Given the description of an element on the screen output the (x, y) to click on. 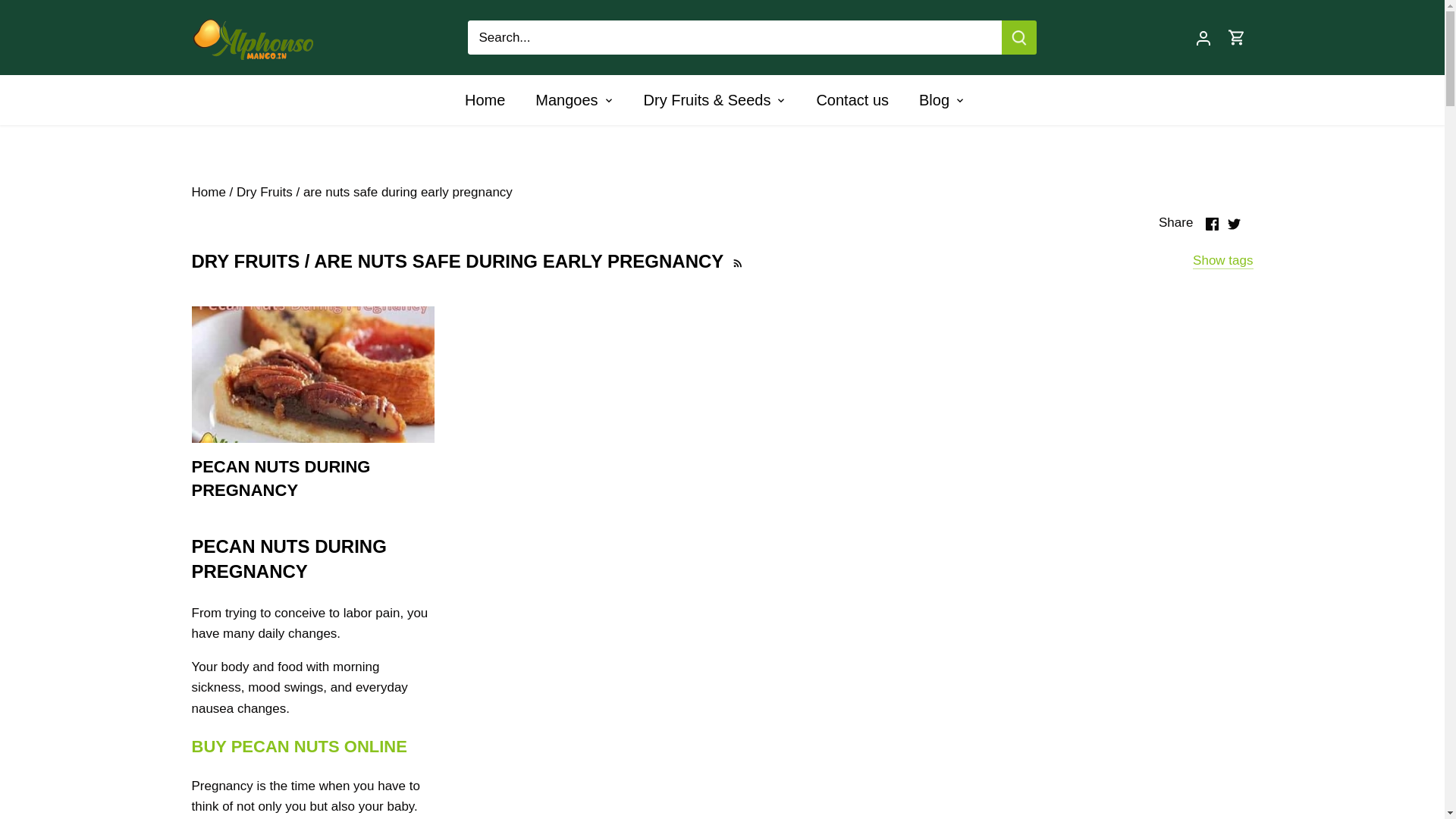
Dry Fruits (263, 192)
Home (207, 192)
Contact us (852, 100)
are nuts safe during early pregnancy (407, 192)
Mangoes (565, 100)
Show tags (1222, 261)
Facebook (1211, 223)
Blog (933, 100)
Twitter (1233, 223)
Home (491, 100)
